Given the description of an element on the screen output the (x, y) to click on. 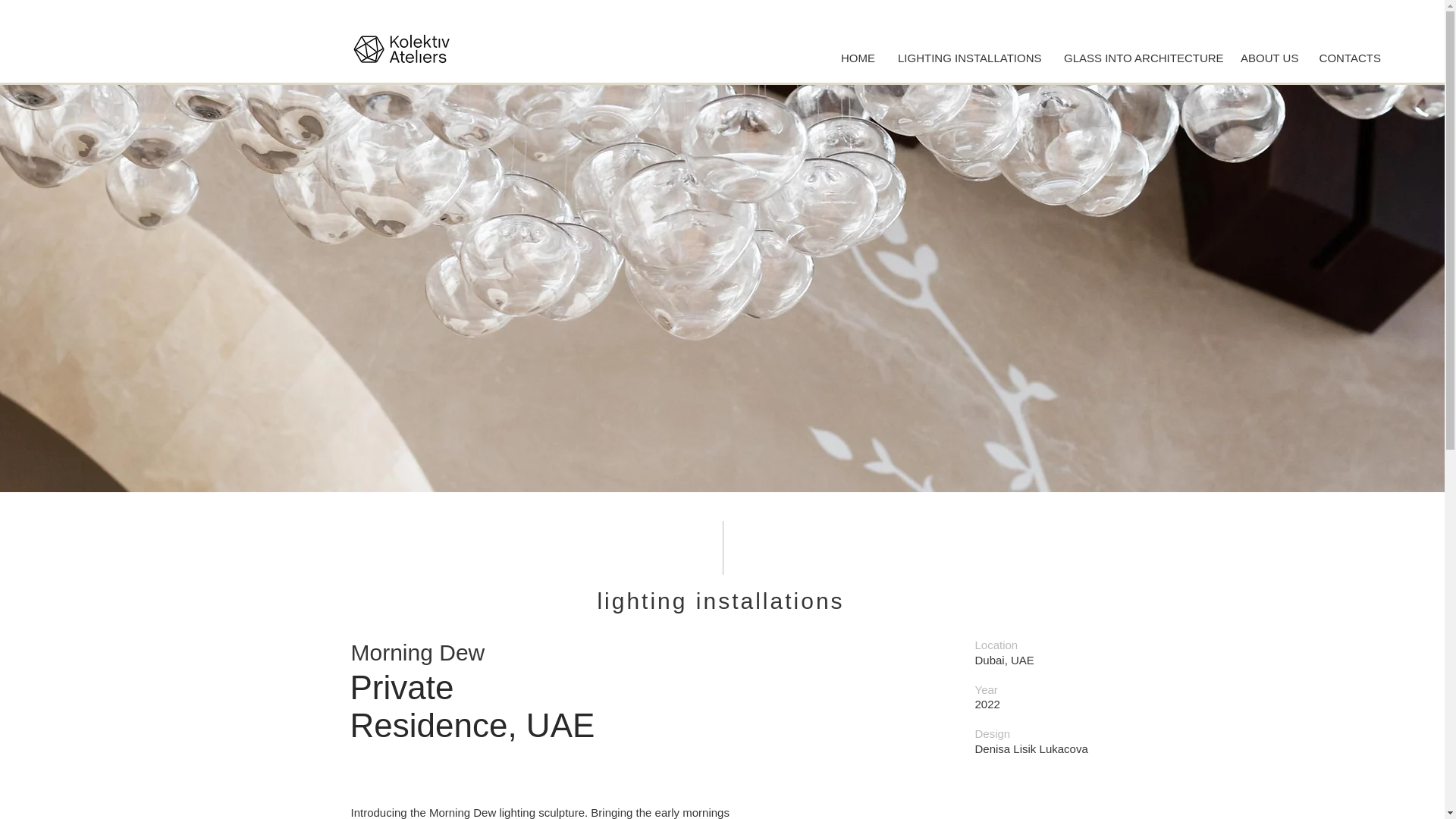
LIGHTING INSTALLATIONS (969, 57)
CONTACTS (1349, 57)
HOME (857, 57)
GLASS INTO ARCHITECTURE (1140, 57)
ABOUT US (1267, 57)
